Given the description of an element on the screen output the (x, y) to click on. 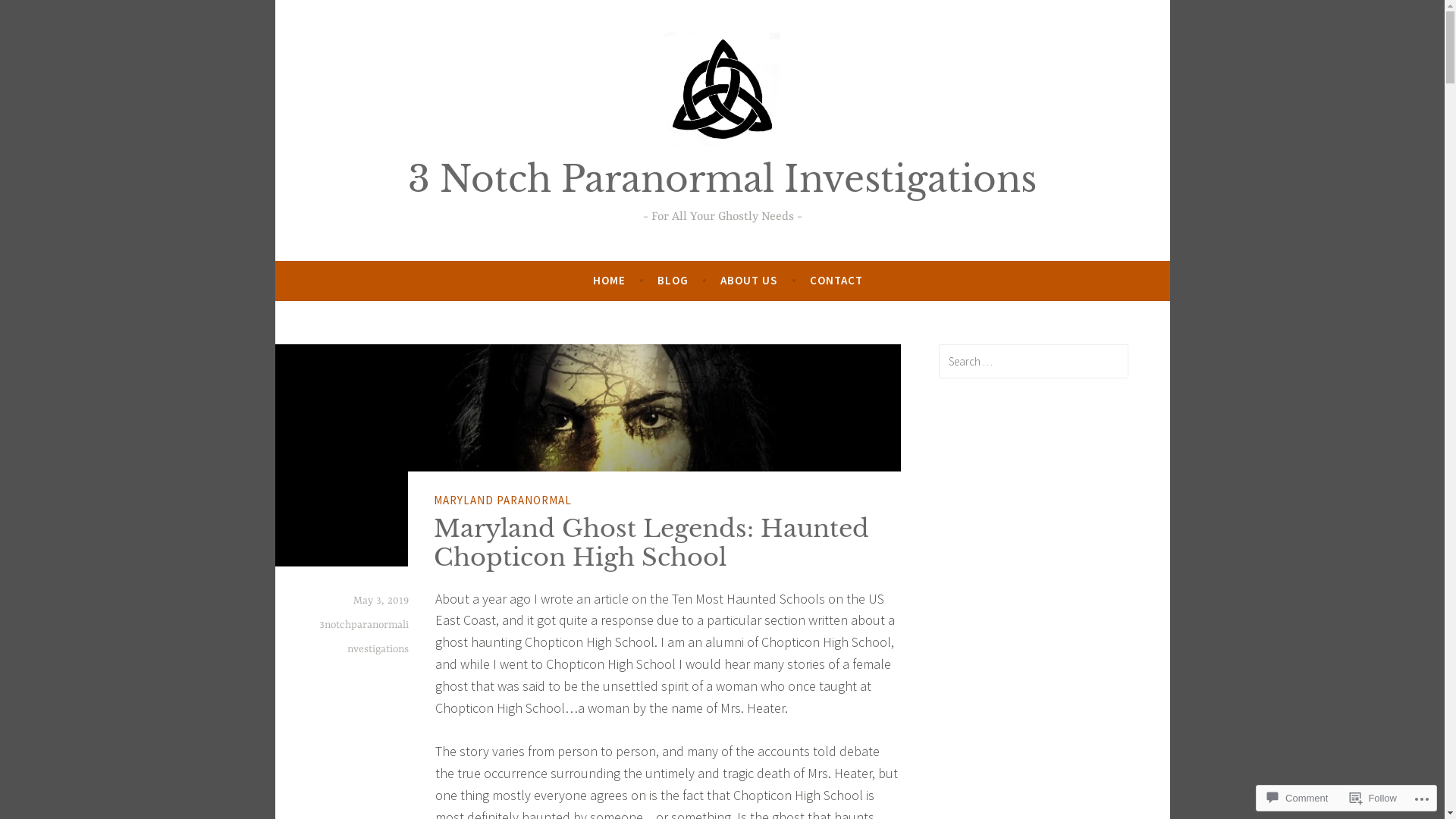
MARYLAND PARANORMAL Element type: text (502, 500)
CONTACT Element type: text (835, 280)
3notchparanormalinvestigations Element type: text (362, 636)
Search Element type: text (33, 15)
May 3, 2019 Element type: text (380, 600)
3 Notch Paranormal Investigations Element type: text (721, 178)
Follow Element type: text (1372, 797)
Comment Element type: text (1297, 797)
ABOUT US Element type: text (748, 280)
HOME Element type: text (609, 280)
BLOG Element type: text (672, 280)
